Given the description of an element on the screen output the (x, y) to click on. 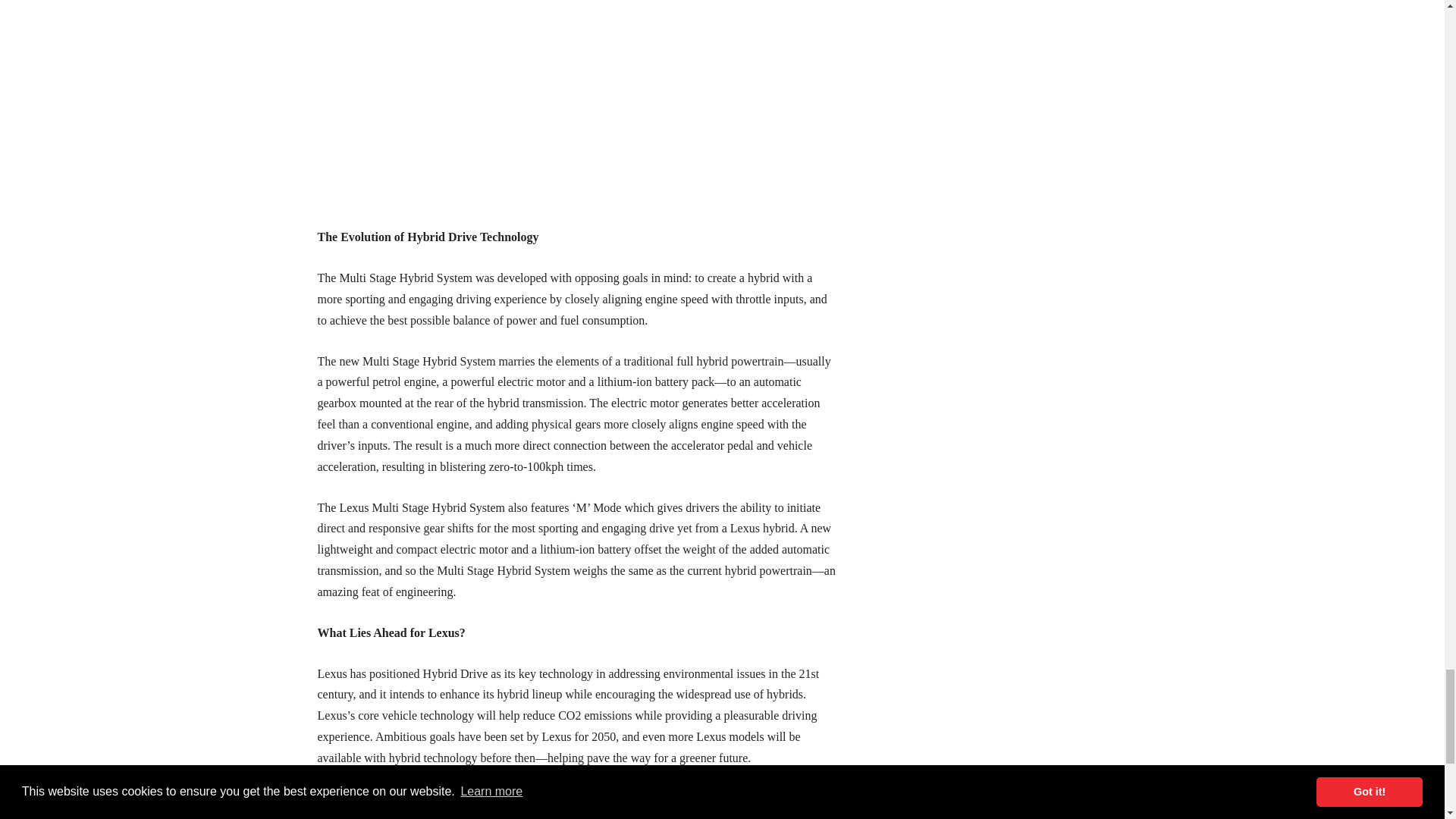
Twitter (400, 803)
Twitter (400, 803)
Pinterest (432, 803)
Pinterest (432, 803)
Facebook (333, 803)
Share (466, 803)
Messenger (367, 803)
Facebook (333, 803)
Messenger (367, 803)
